Given the description of an element on the screen output the (x, y) to click on. 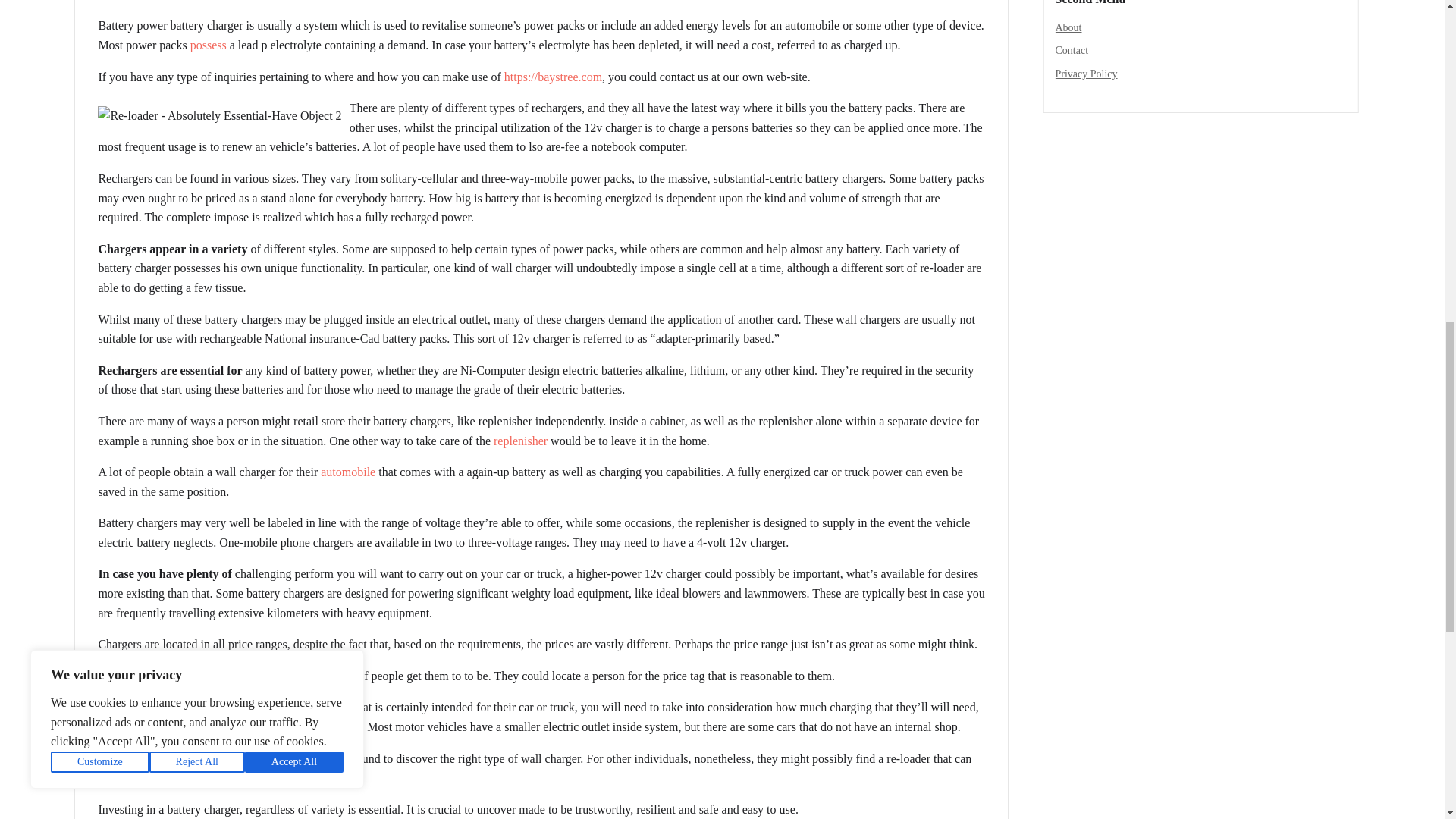
possess (208, 44)
admin (119, 0)
replenisher (520, 440)
automobile (347, 472)
